Given the description of an element on the screen output the (x, y) to click on. 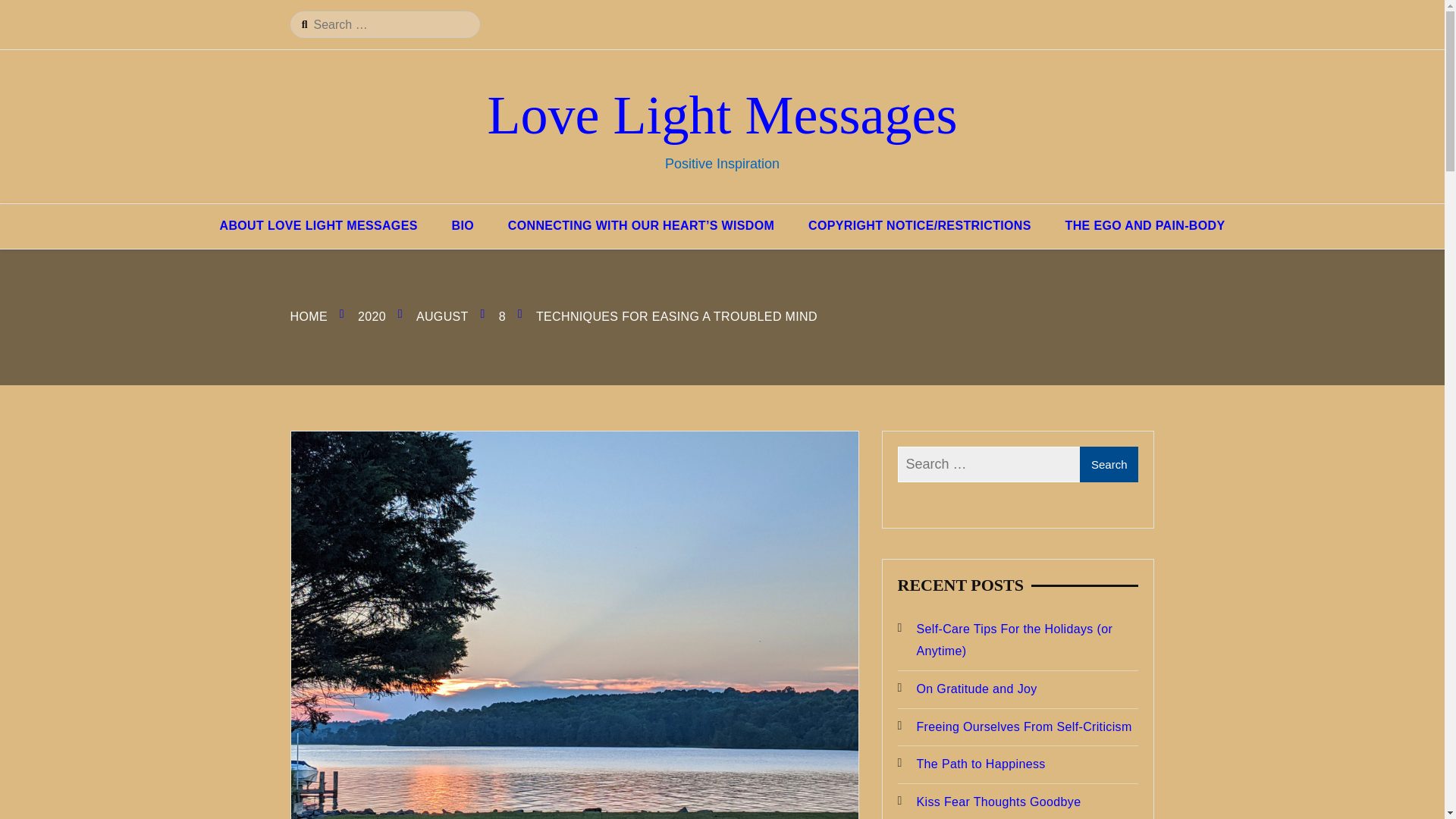
On Gratitude and Joy (1018, 689)
2020 (371, 316)
The Path to Happiness (1018, 764)
BIO (462, 225)
HOME (307, 316)
Search (1109, 464)
Love Light Messages (722, 115)
Freeing Ourselves From Self-Criticism (1018, 727)
Search (1109, 464)
Search (21, 13)
AUGUST (442, 316)
THE EGO AND PAIN-BODY (1144, 225)
ABOUT LOVE LIGHT MESSAGES (317, 225)
Search (1109, 464)
Kiss Fear Thoughts Goodbye (1018, 802)
